Given the description of an element on the screen output the (x, y) to click on. 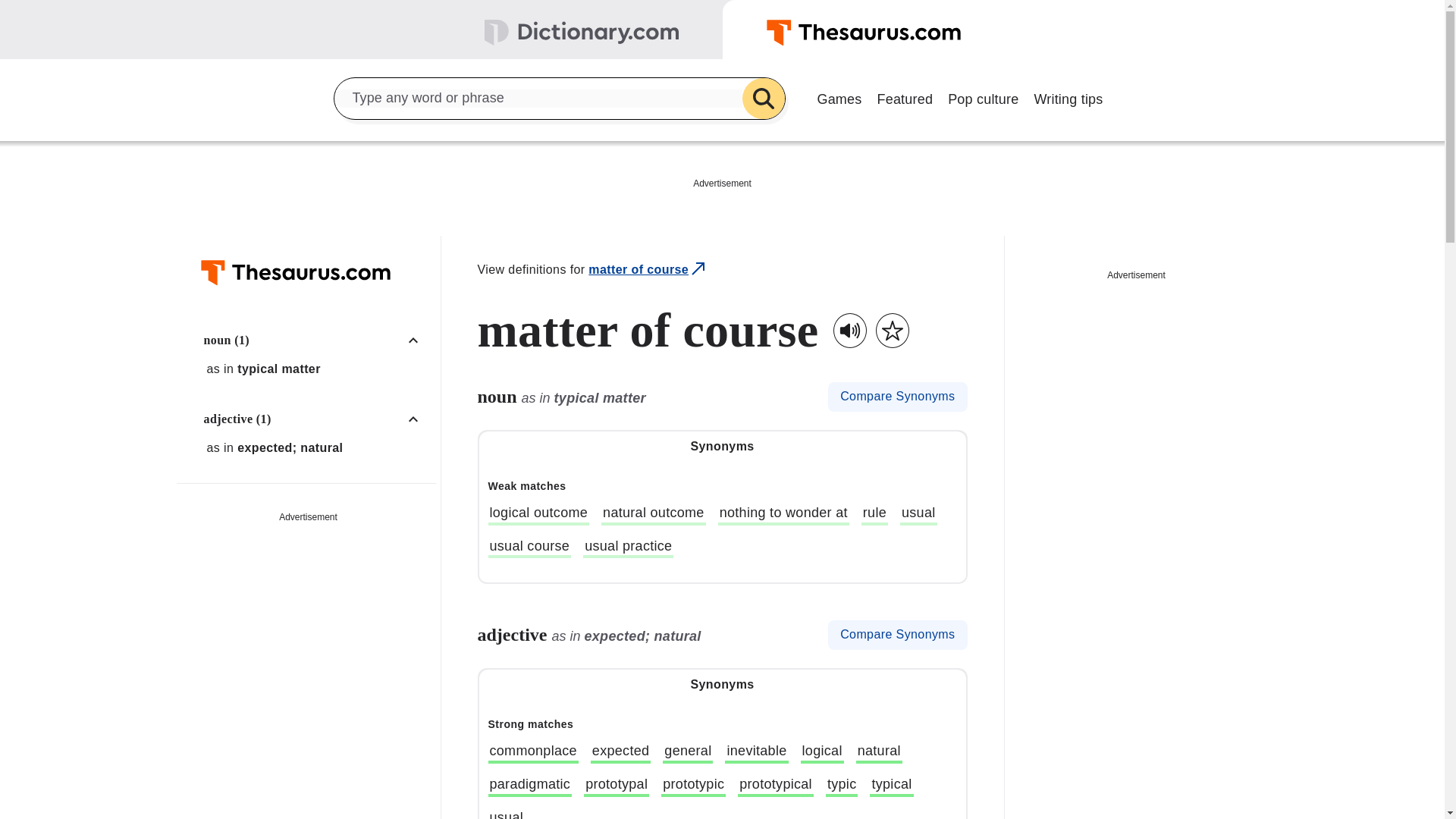
Games (839, 97)
as in expected; natural (316, 447)
Pop culture (983, 97)
matter of course (647, 270)
as in typical matter (316, 369)
Writing tips (1067, 97)
Compare Synonyms (897, 396)
Synonyms (722, 446)
Featured (904, 97)
